Given the description of an element on the screen output the (x, y) to click on. 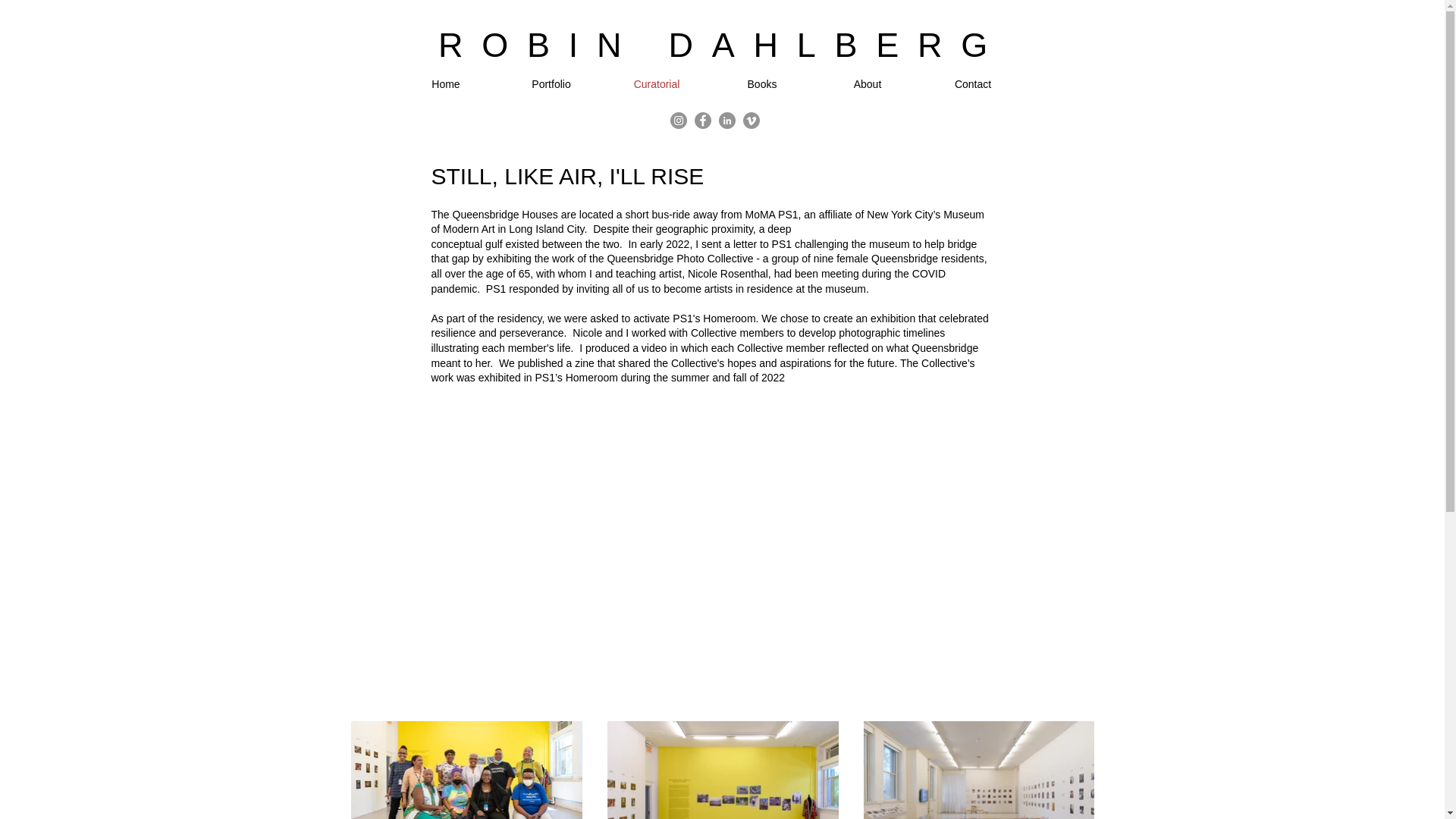
Home (445, 84)
Contact (973, 84)
Books (762, 84)
Curatorial (656, 84)
Portfolio (551, 84)
About (866, 84)
